Given the description of an element on the screen output the (x, y) to click on. 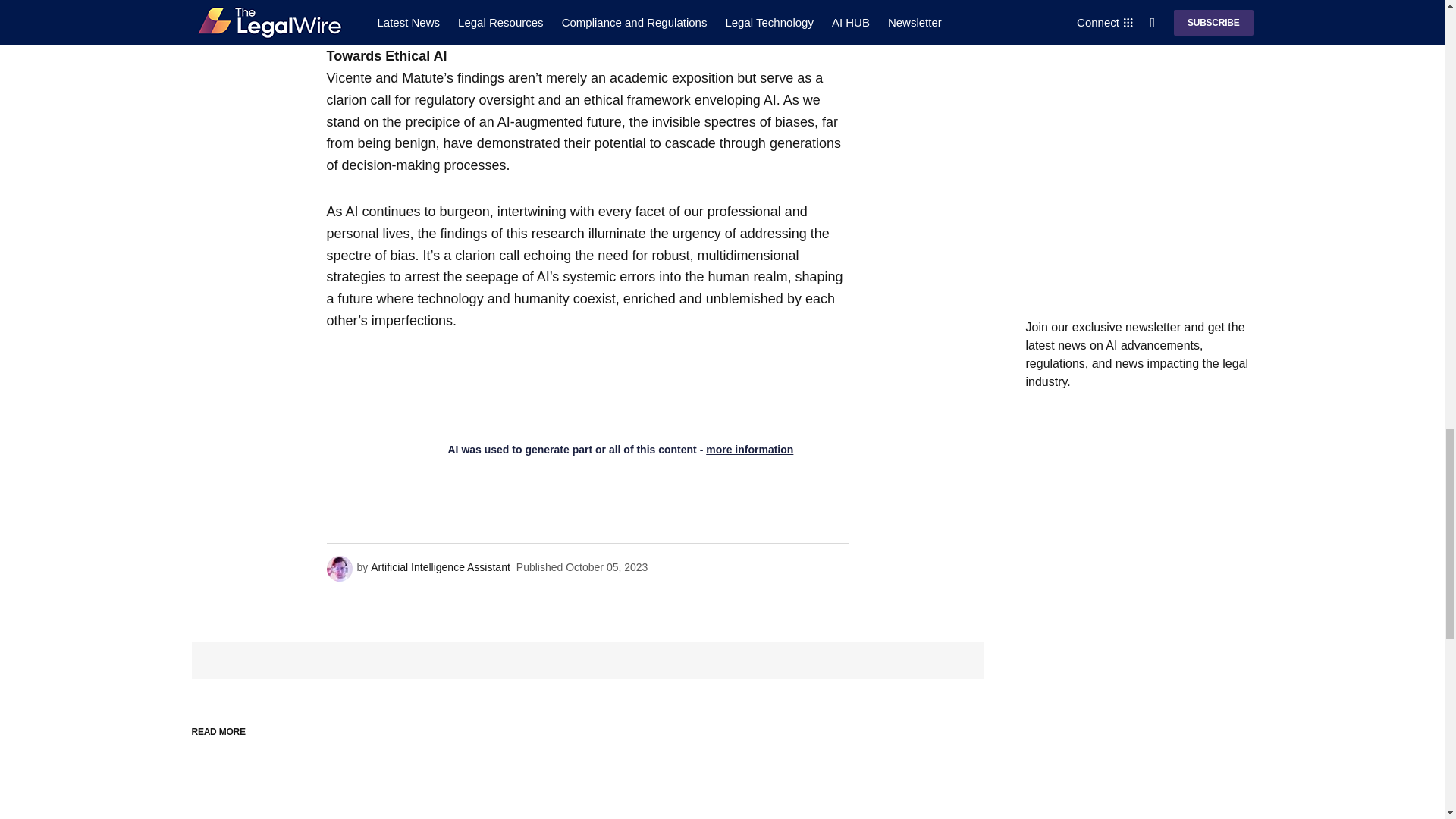
more information (749, 449)
